Given the description of an element on the screen output the (x, y) to click on. 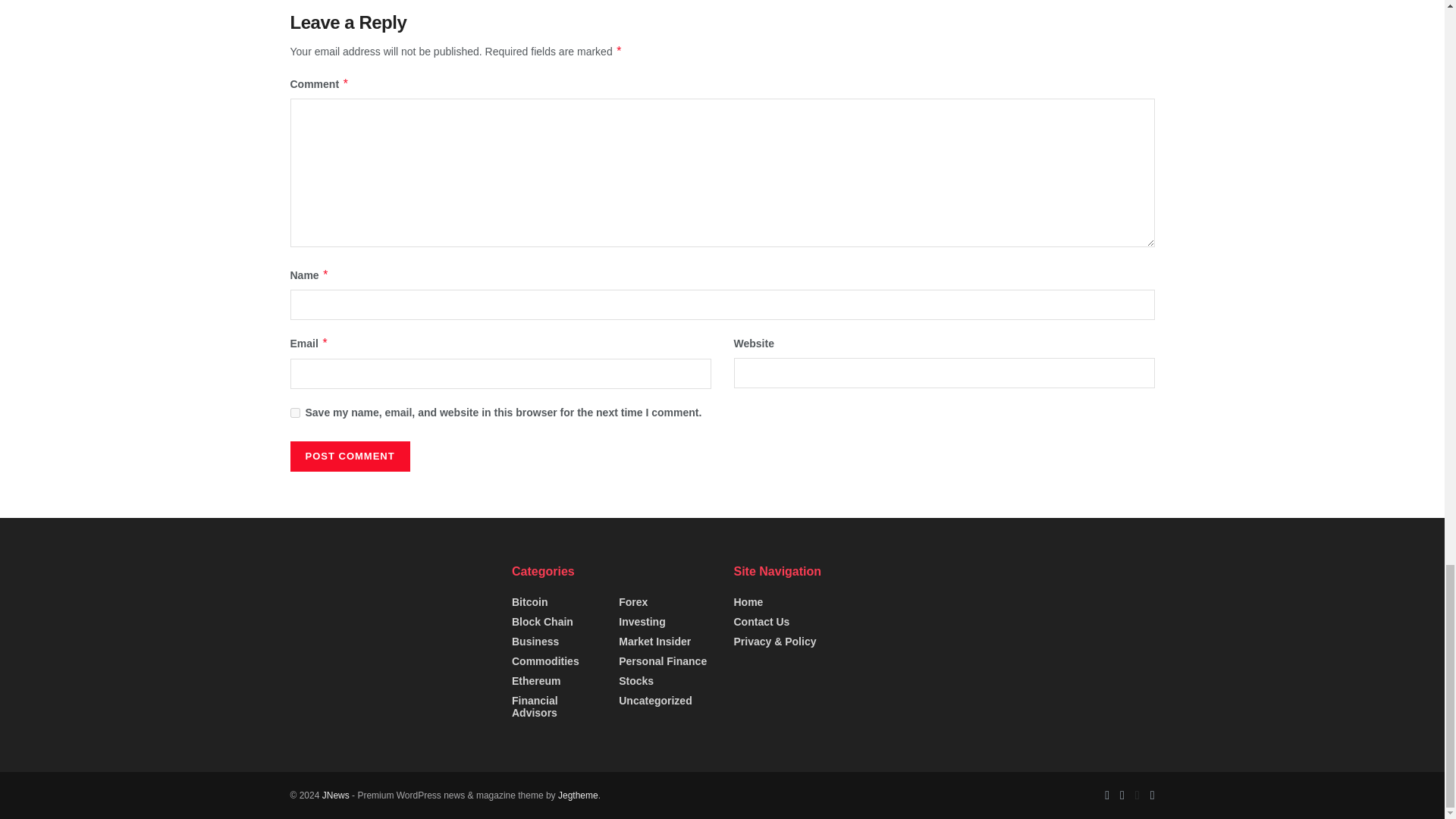
Post Comment (349, 456)
Jegtheme (577, 795)
yes (294, 412)
